Given the description of an element on the screen output the (x, y) to click on. 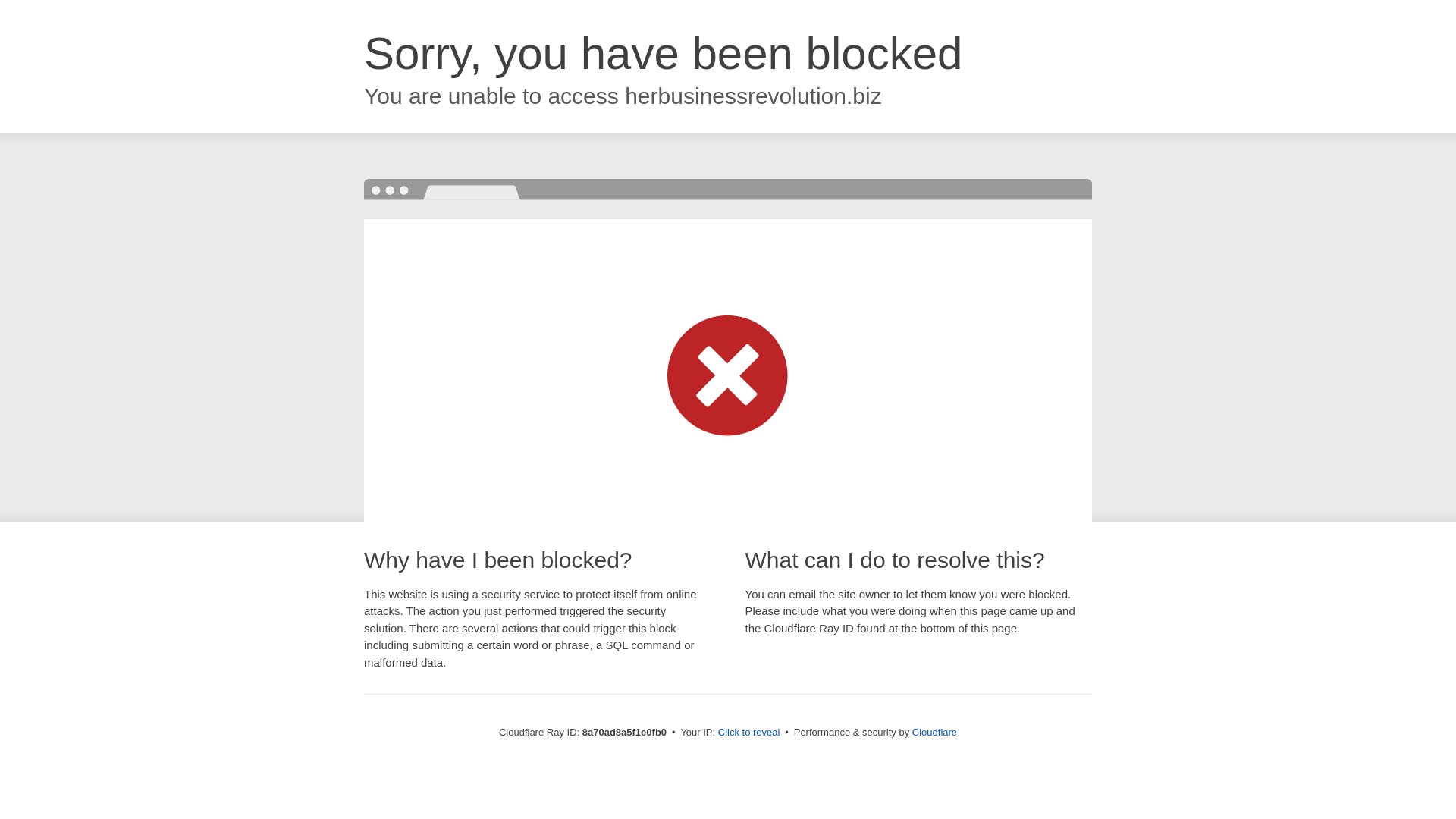
Cloudflare (934, 731)
Click to reveal (748, 732)
